Given the description of an element on the screen output the (x, y) to click on. 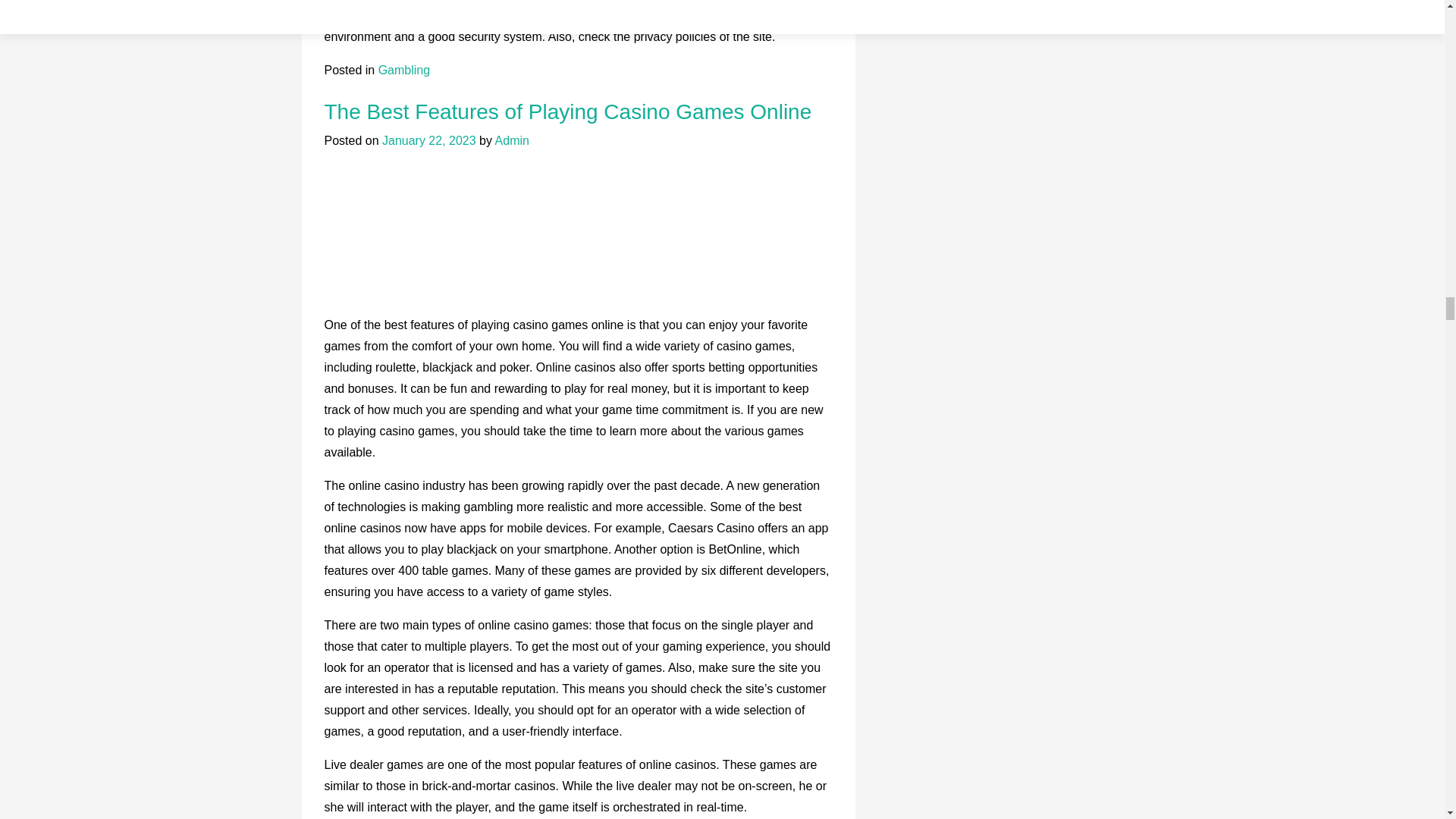
Gambling (403, 69)
January 22, 2023 (428, 140)
The Best Features of Playing Casino Games Online (568, 111)
